Given the description of an element on the screen output the (x, y) to click on. 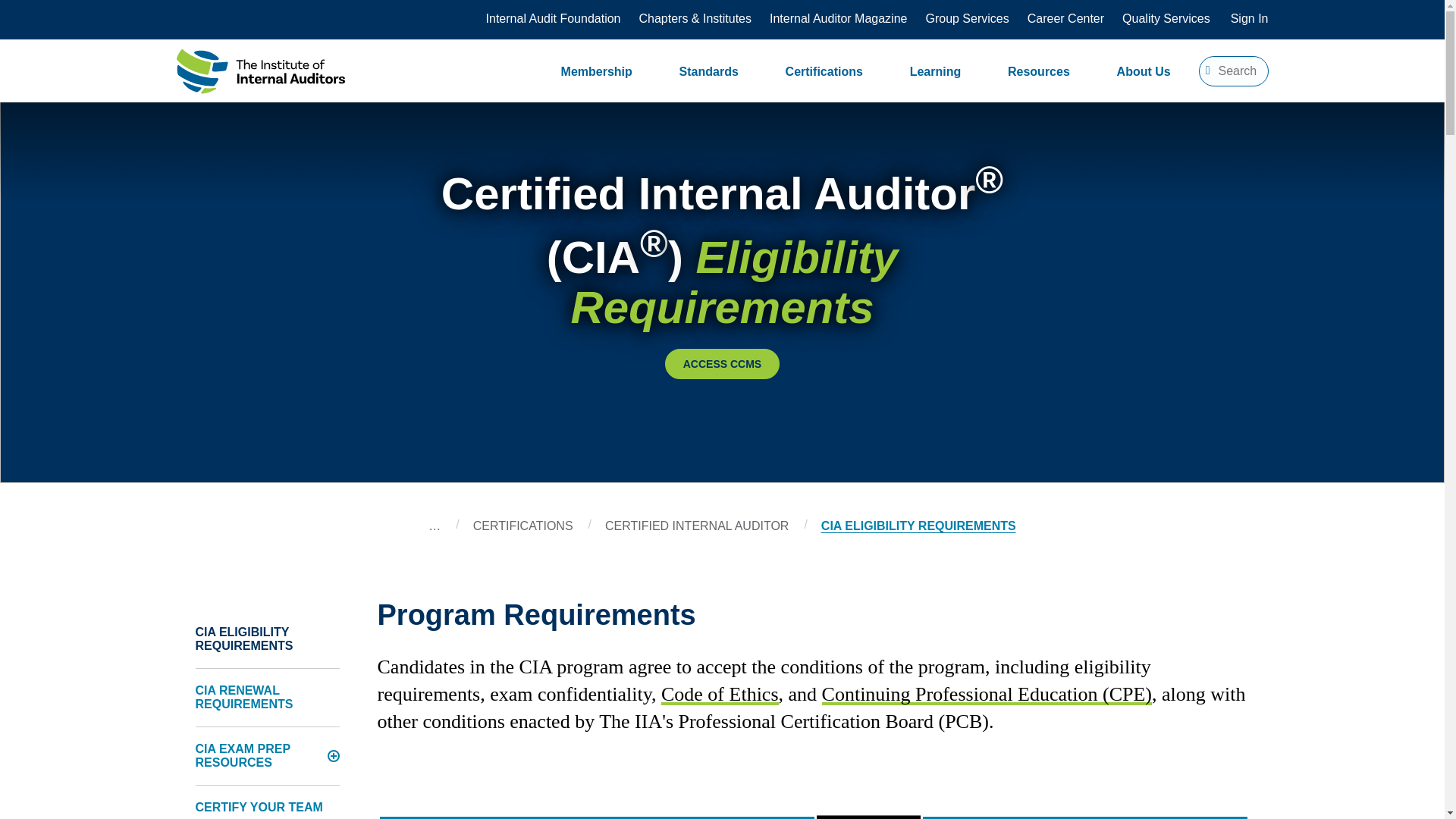
Standards (708, 71)
Internal Audit Foundation (553, 18)
Group Sales (966, 18)
Access CCMS (721, 363)
The IIA (259, 75)
Certifications (824, 71)
Internal Auditor Magazine (838, 18)
Learning (935, 71)
Membership (595, 71)
Career Center (1065, 18)
